Given the description of an element on the screen output the (x, y) to click on. 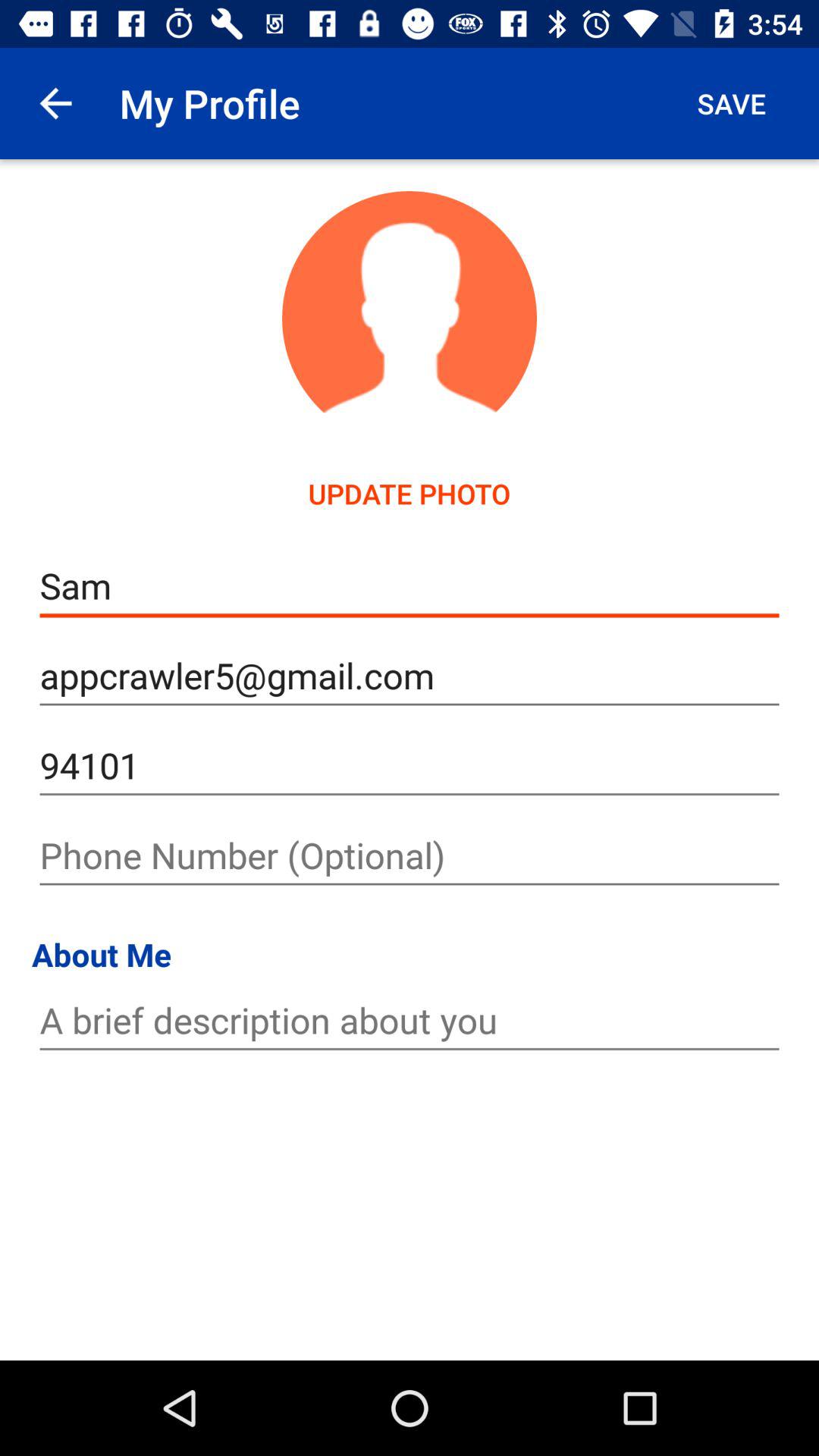
turn off item above about me (409, 855)
